Given the description of an element on the screen output the (x, y) to click on. 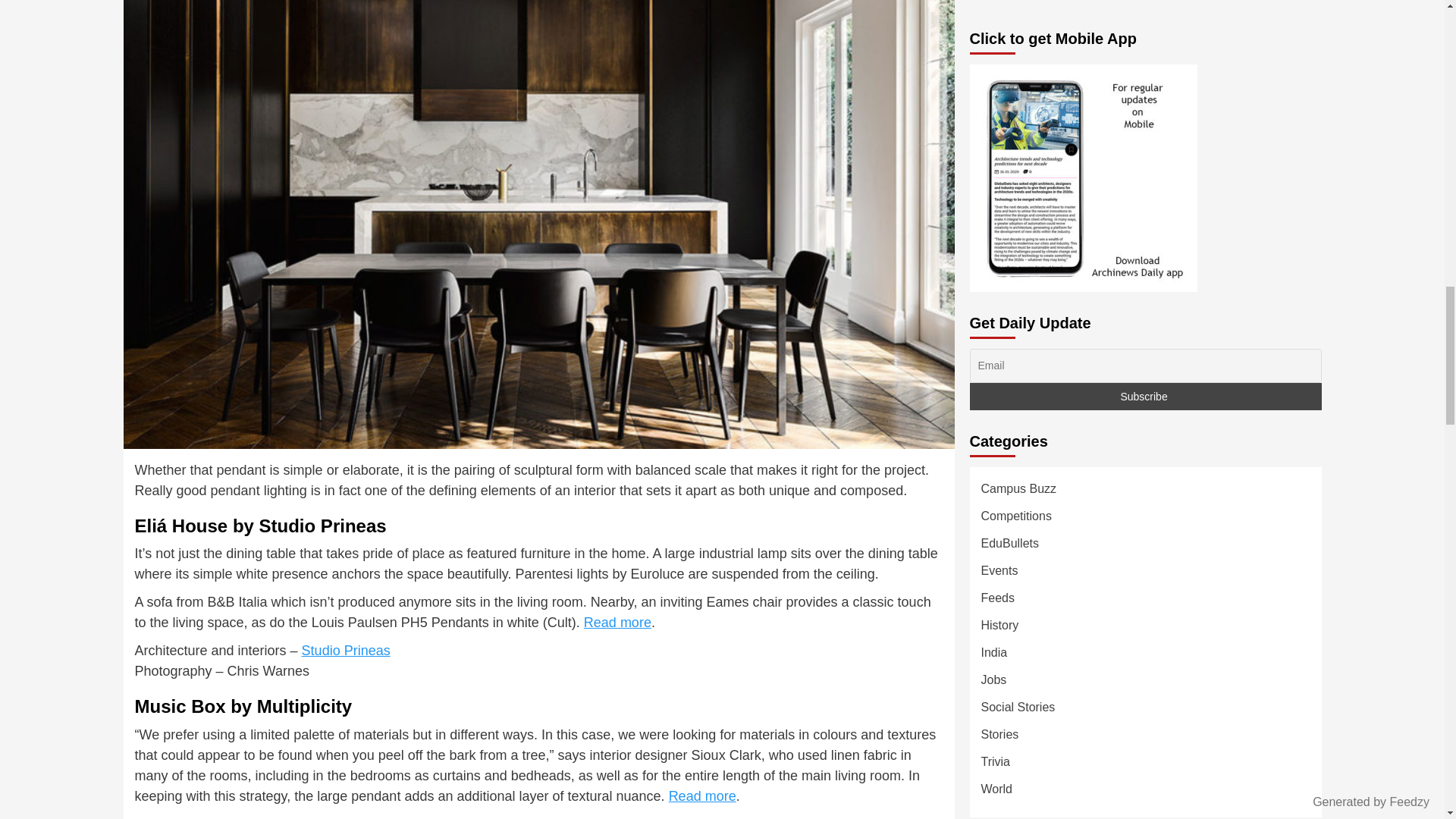
Multiplicity (333, 817)
Studio Prineas (345, 650)
Read more (616, 622)
Read more (702, 795)
